Given the description of an element on the screen output the (x, y) to click on. 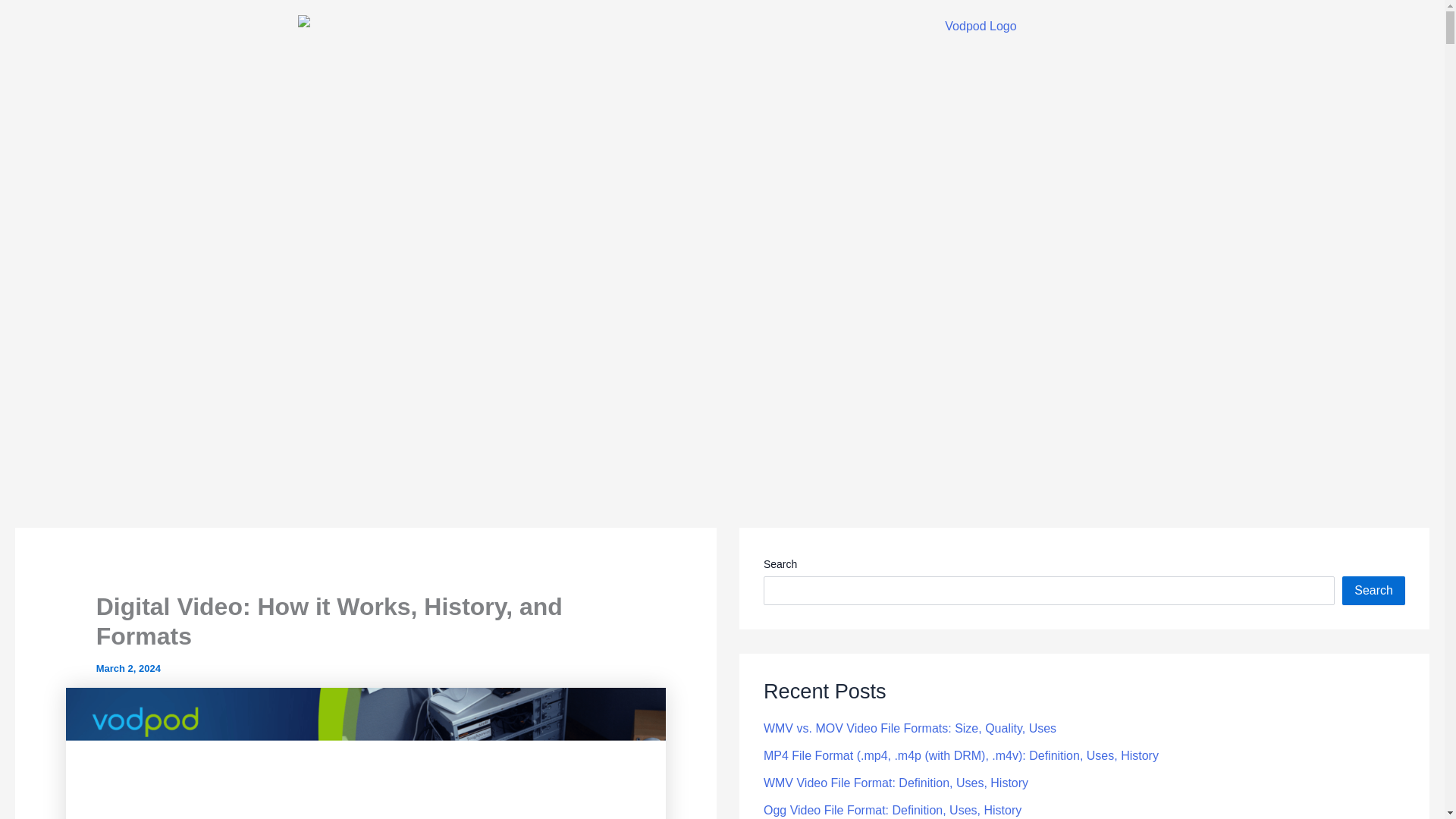
Search (1373, 590)
Ogg Video File Format: Definition, Uses, History (892, 809)
WMV vs. MOV Video File Formats: Size, Quality, Uses (909, 727)
WMV Video File Format: Definition, Uses, History (894, 782)
